Given the description of an element on the screen output the (x, y) to click on. 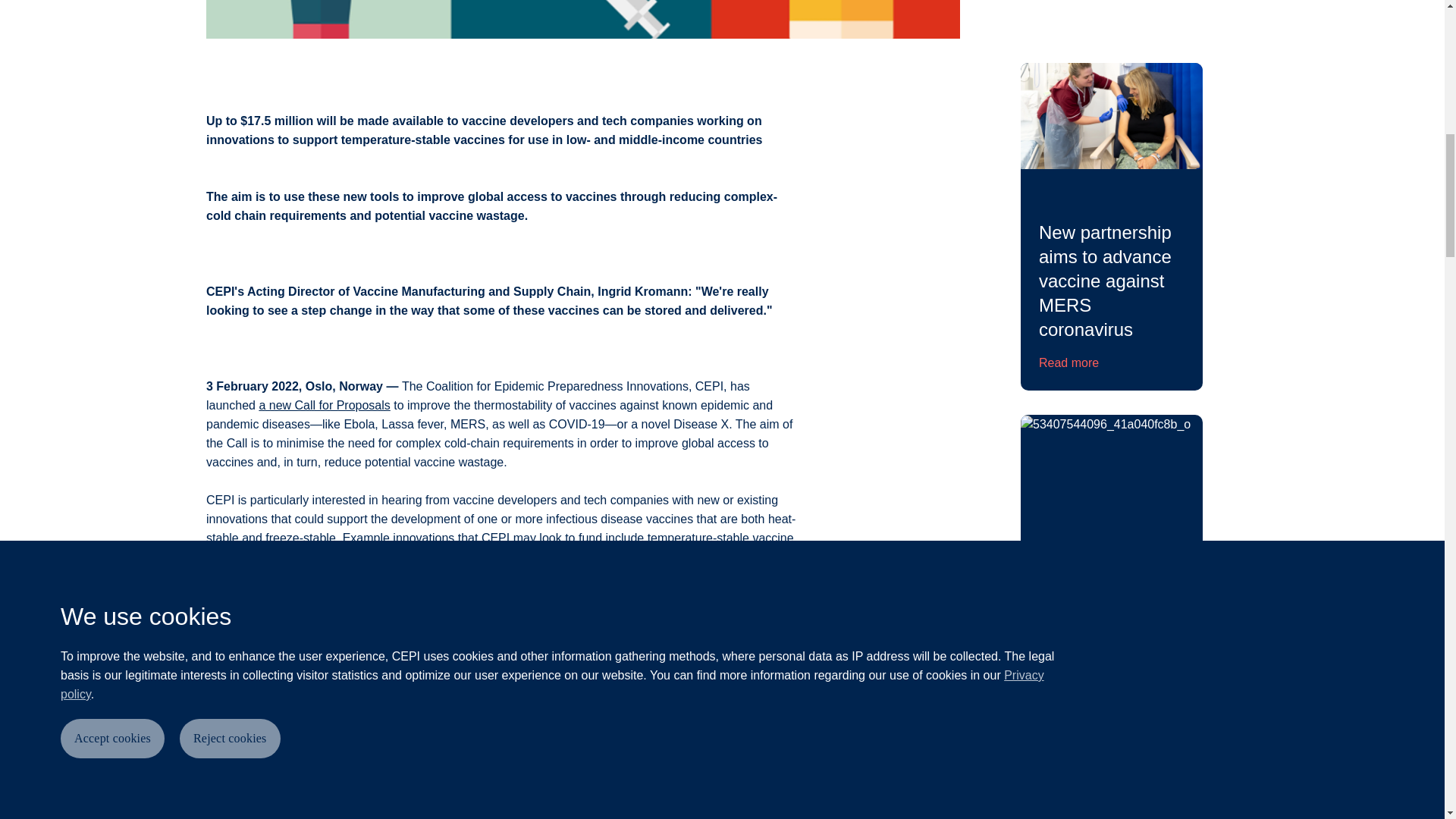
Read more (1069, 714)
Read more (1069, 362)
a new Call for Proposals (324, 404)
